Given the description of an element on the screen output the (x, y) to click on. 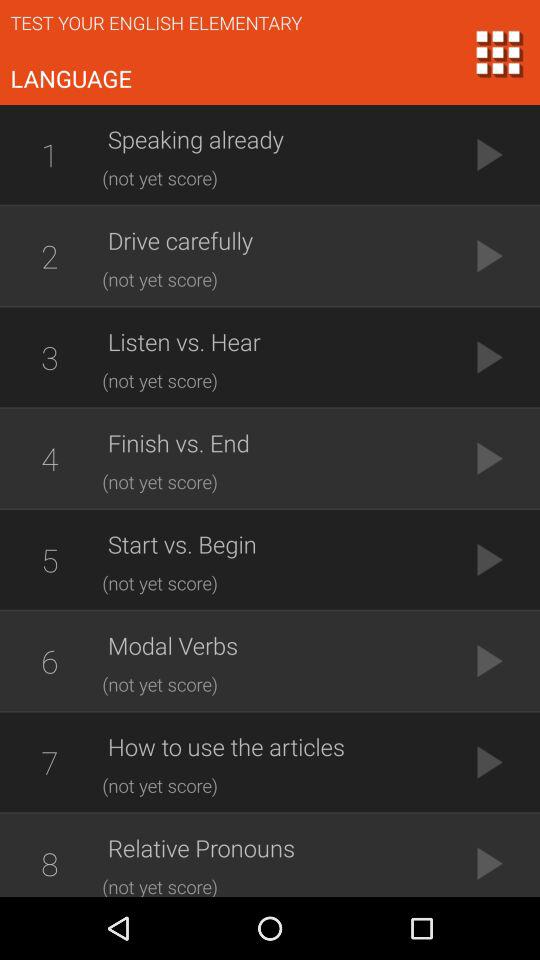
click item to the left of  speaking already app (49, 154)
